Given the description of an element on the screen output the (x, y) to click on. 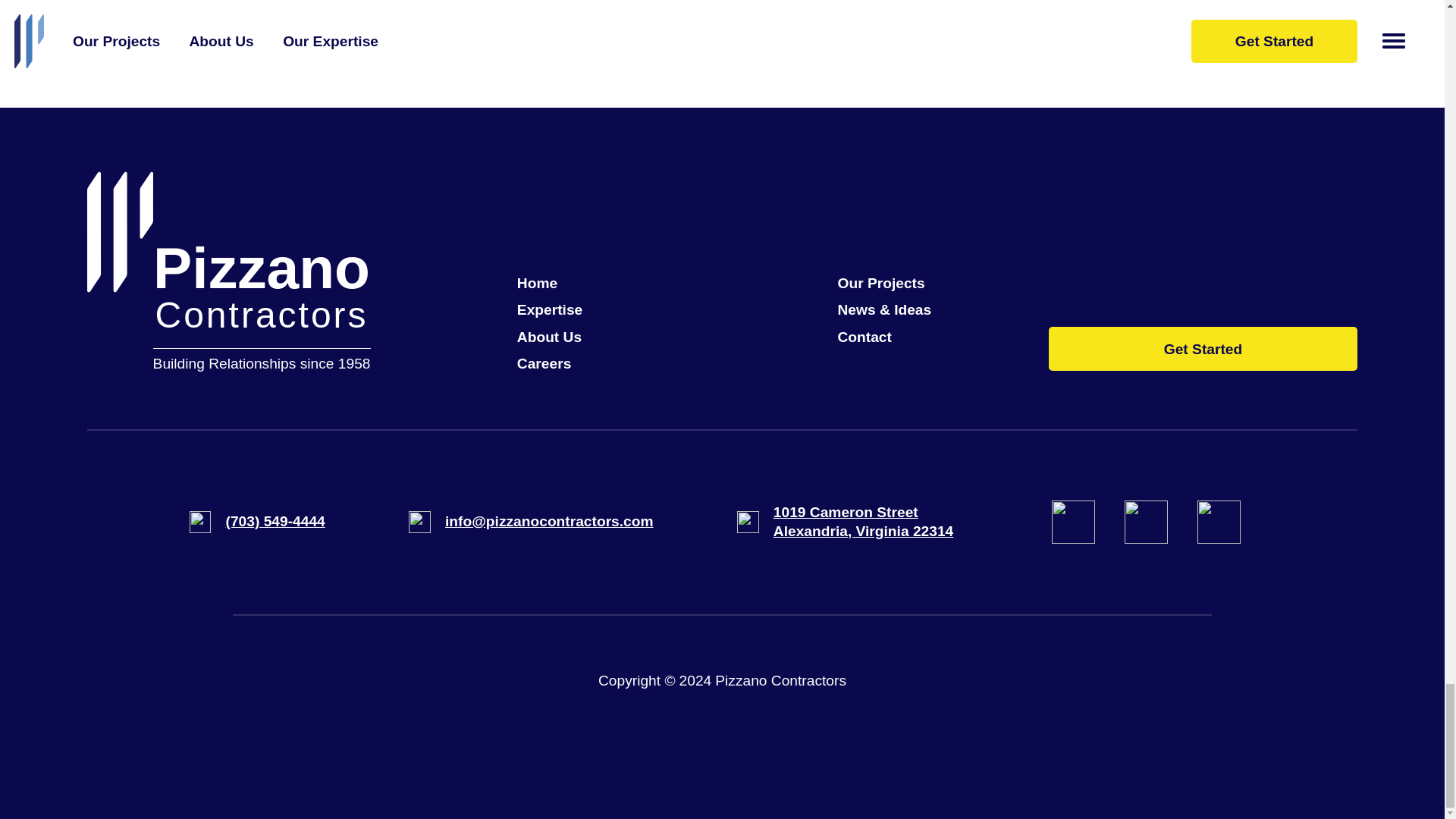
Our Projects (882, 283)
Contact (882, 336)
Careers (561, 363)
Home (844, 522)
About Us (561, 283)
Expertise (561, 336)
